Given the description of an element on the screen output the (x, y) to click on. 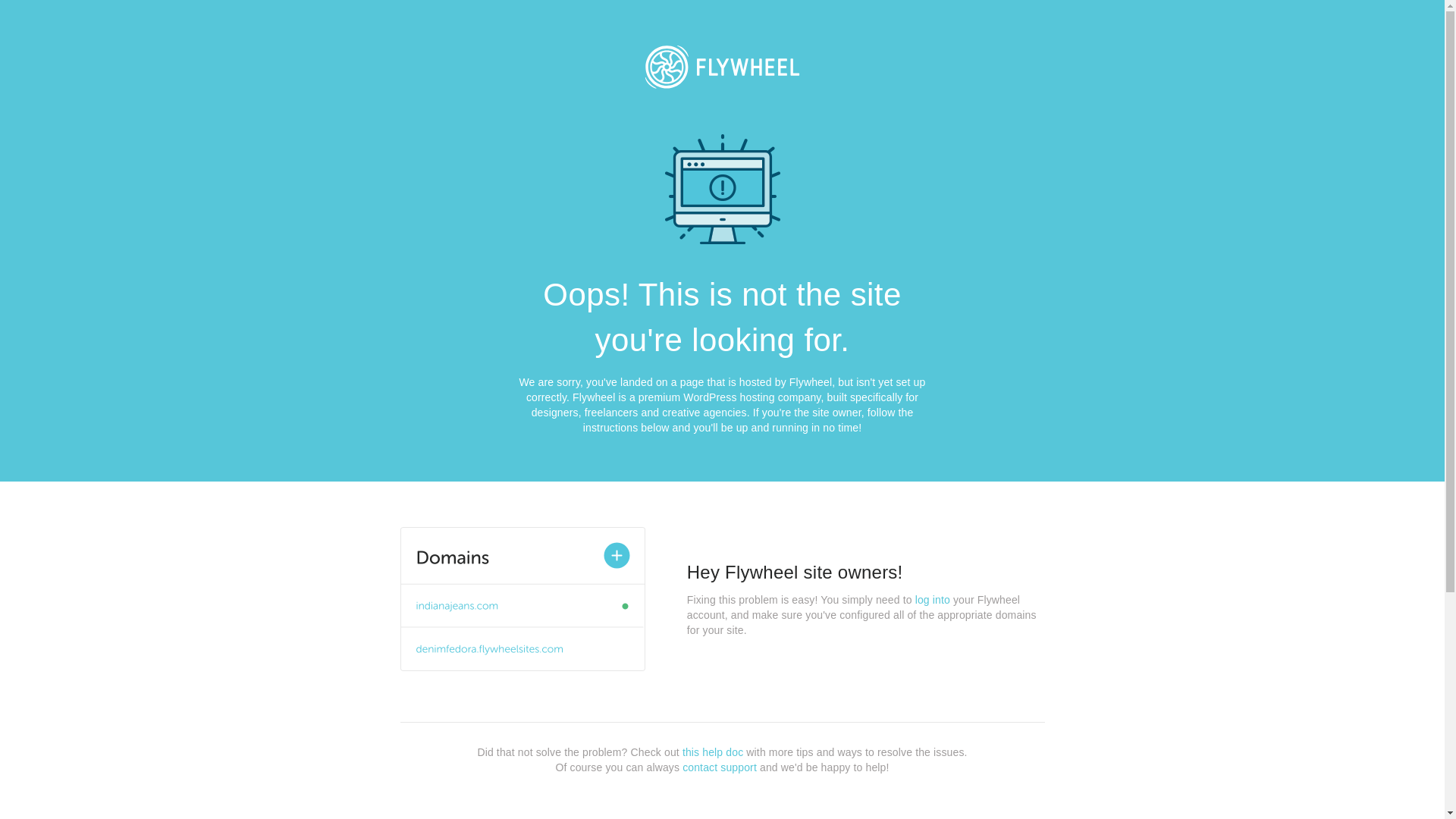
this help doc Element type: text (712, 752)
contact support Element type: text (719, 767)
log into Element type: text (932, 599)
